Given the description of an element on the screen output the (x, y) to click on. 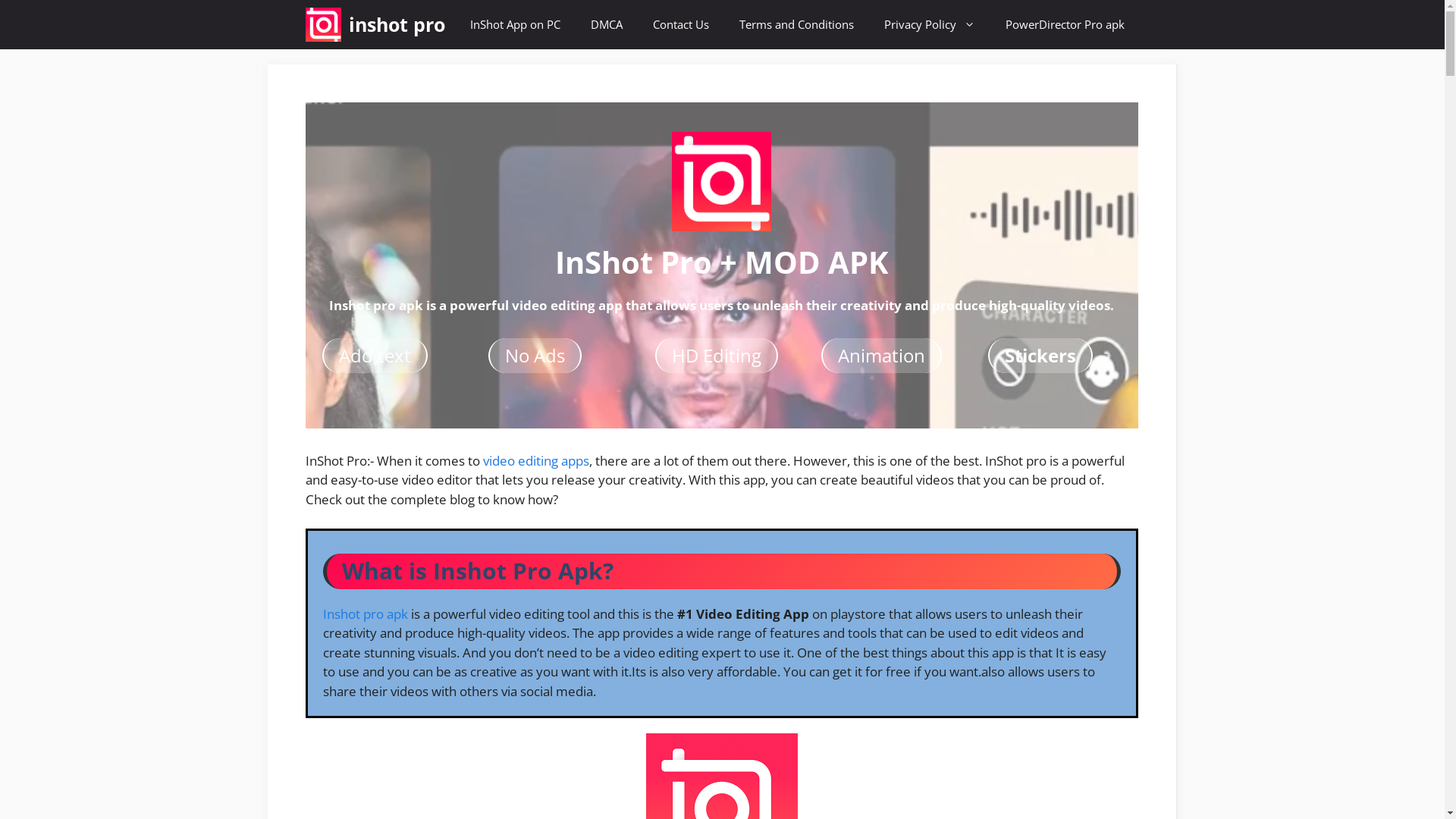
Privacy Policy Element type: text (929, 24)
inshot pro Element type: hover (322, 24)
DMCA Element type: text (605, 24)
inshot pro Element type: text (396, 24)
Inshot pro apk Element type: text (365, 613)
Terms and Conditions Element type: text (795, 24)
InShot App on PC Element type: text (515, 24)
Contact Us Element type: text (680, 24)
video editing apps Element type: text (535, 460)
PowerDirector Pro apk Element type: text (1064, 24)
